Given the description of an element on the screen output the (x, y) to click on. 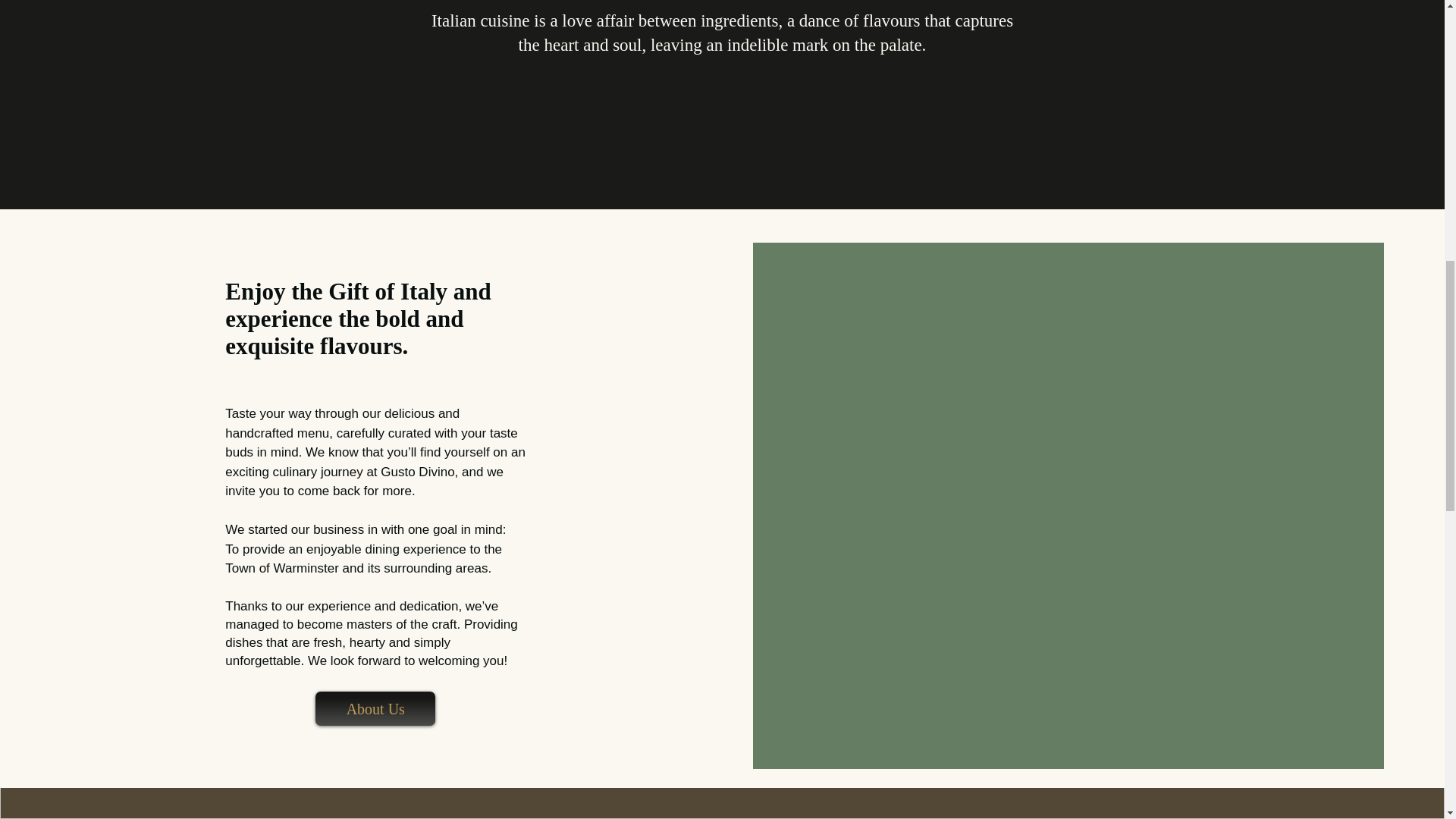
About Us (375, 708)
